Given the description of an element on the screen output the (x, y) to click on. 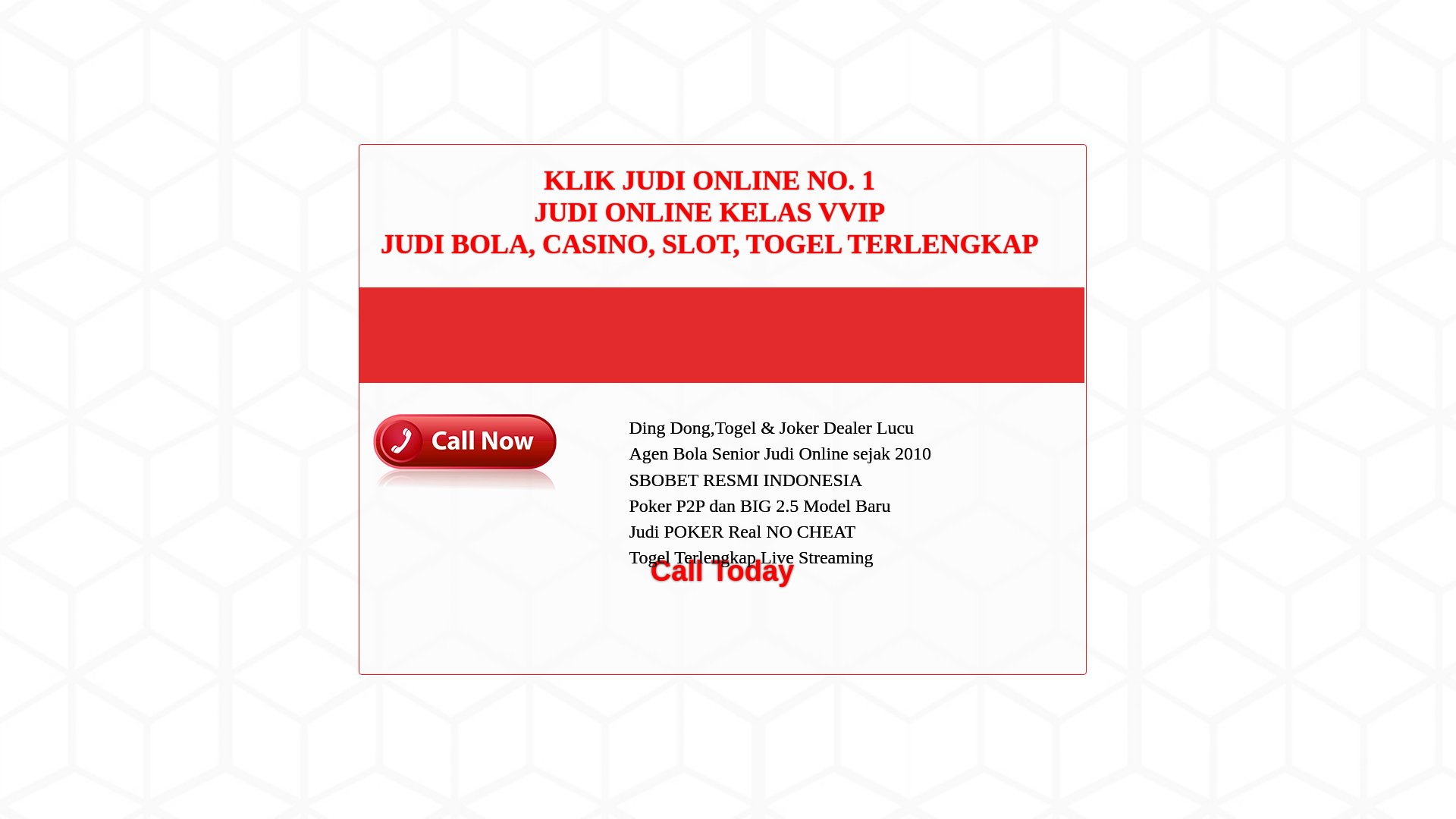
July 2020 (988, 432)
DMCA Policy (996, 282)
KANONSPORTS.COM (403, 28)
Contact Us (991, 258)
Search (1050, 85)
Skip to content (34, 9)
Search for: (1049, 47)
RSS (977, 612)
Blog (976, 510)
Search (1050, 85)
Privacy Policy (999, 306)
Latest Article (996, 172)
ADMINISTRATOR (417, 81)
Log in (980, 588)
Disclaimer (990, 354)
